Given the description of an element on the screen output the (x, y) to click on. 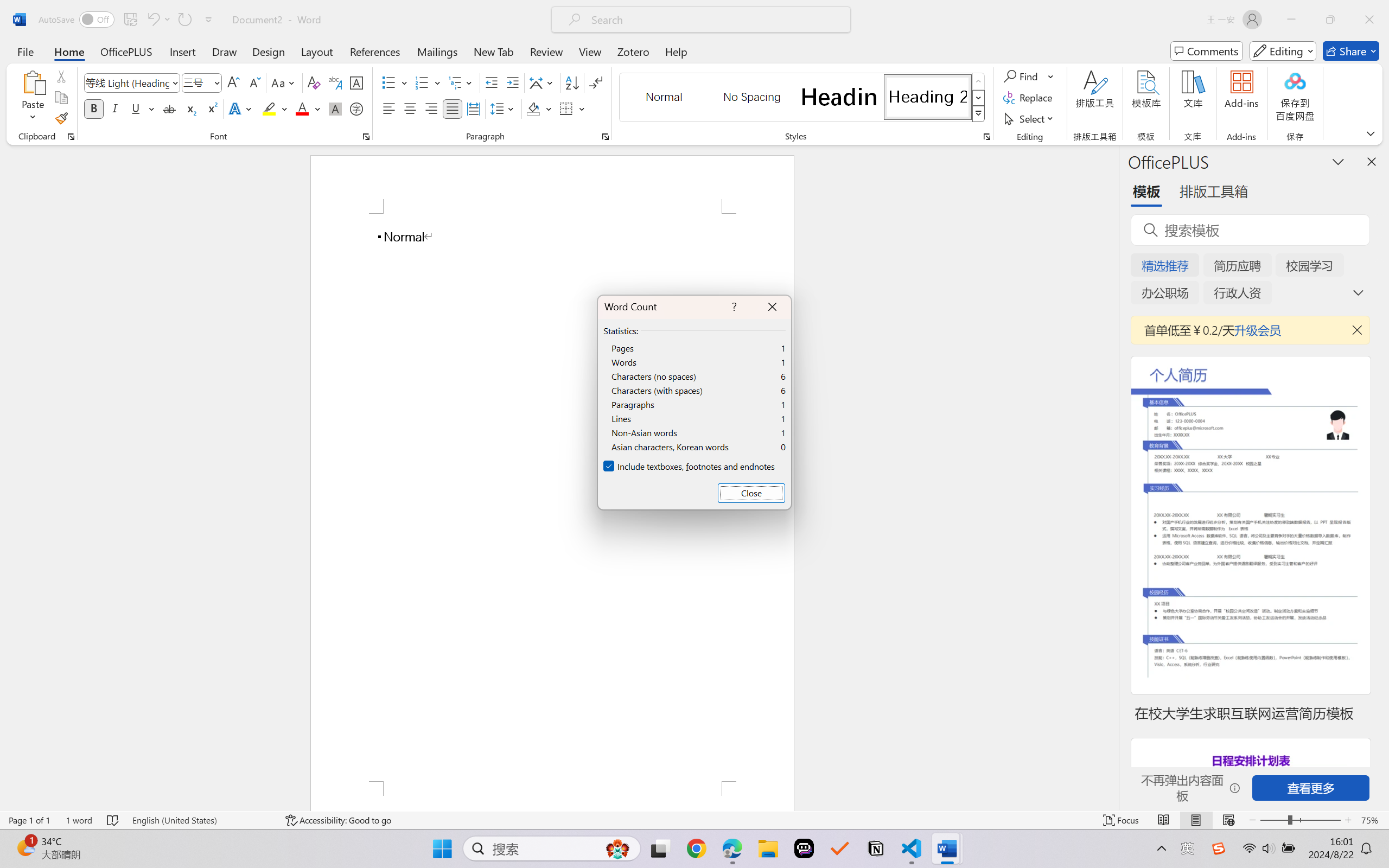
Select (1030, 118)
Align Left (388, 108)
Poe (804, 848)
Justify (452, 108)
Class: NetUIImage (978, 114)
Mode (1283, 50)
Increase Indent (512, 82)
Asian Layout (542, 82)
Quick Access Toolbar (127, 19)
Text Highlight Color Yellow (269, 108)
